Given the description of an element on the screen output the (x, y) to click on. 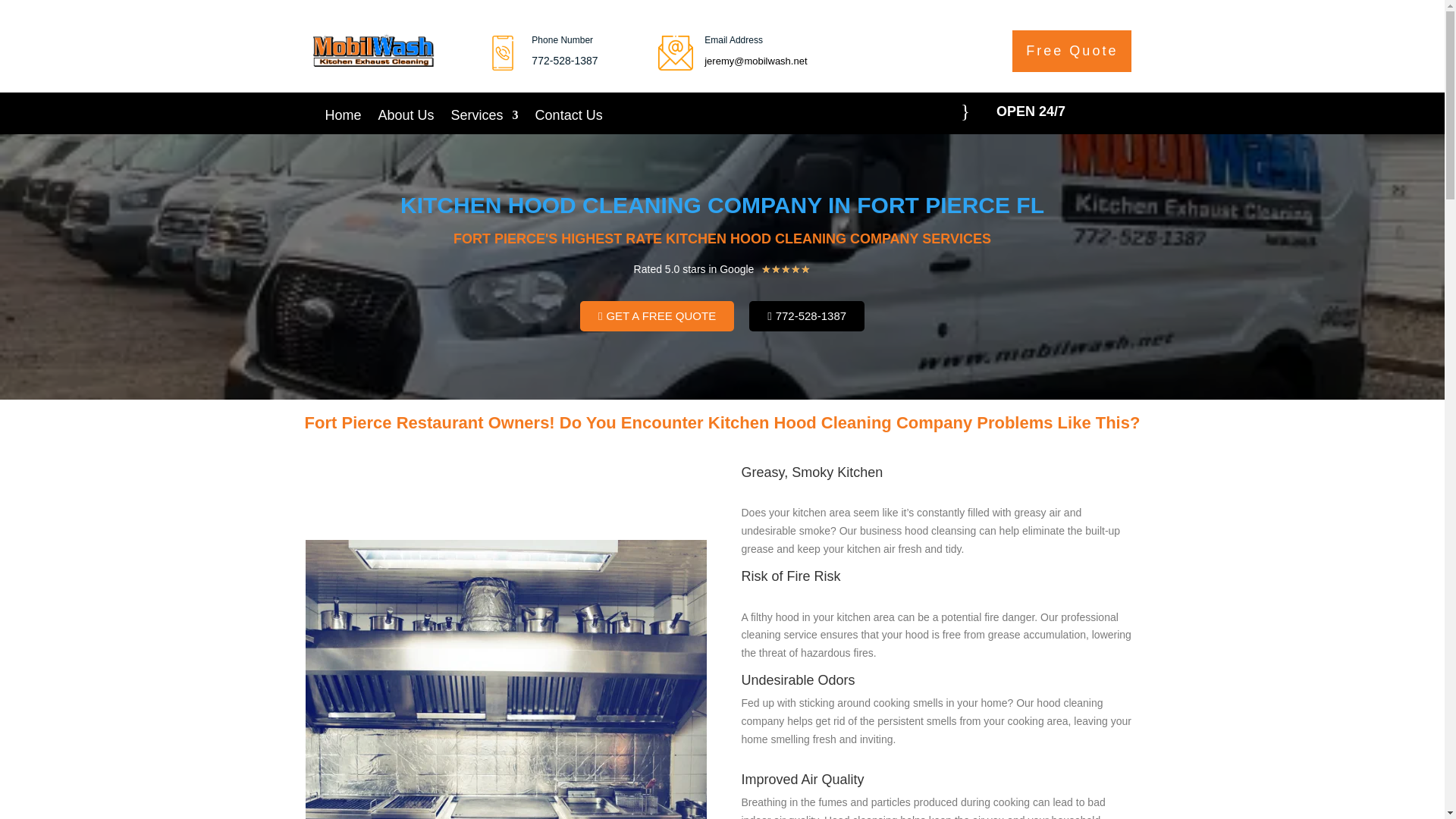
Home (342, 117)
Contact Us (568, 117)
logo-mw (373, 49)
GET A FREE QUOTE (656, 316)
Phone Number (561, 40)
Services (484, 117)
772-528-1387 (806, 316)
Email Address (733, 40)
About Us (405, 117)
Free Quote (1071, 51)
